Given the description of an element on the screen output the (x, y) to click on. 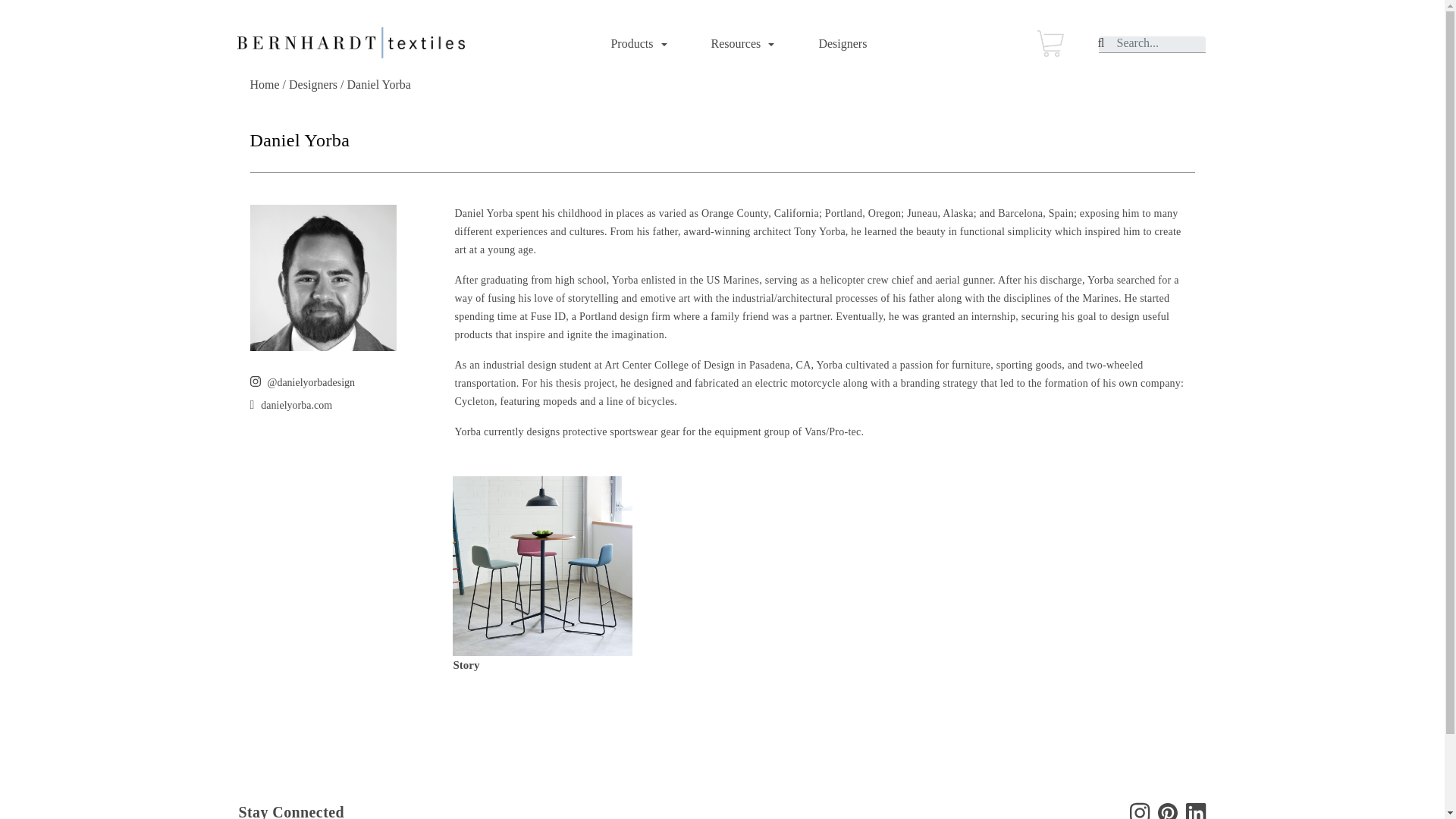
BT-Logo (349, 42)
Resources (740, 43)
Products (636, 43)
Home (264, 83)
Products (636, 43)
Story (465, 664)
Designers (842, 43)
danielyorba.com (295, 405)
Resources (740, 43)
Stay Connected (290, 812)
